Given the description of an element on the screen output the (x, y) to click on. 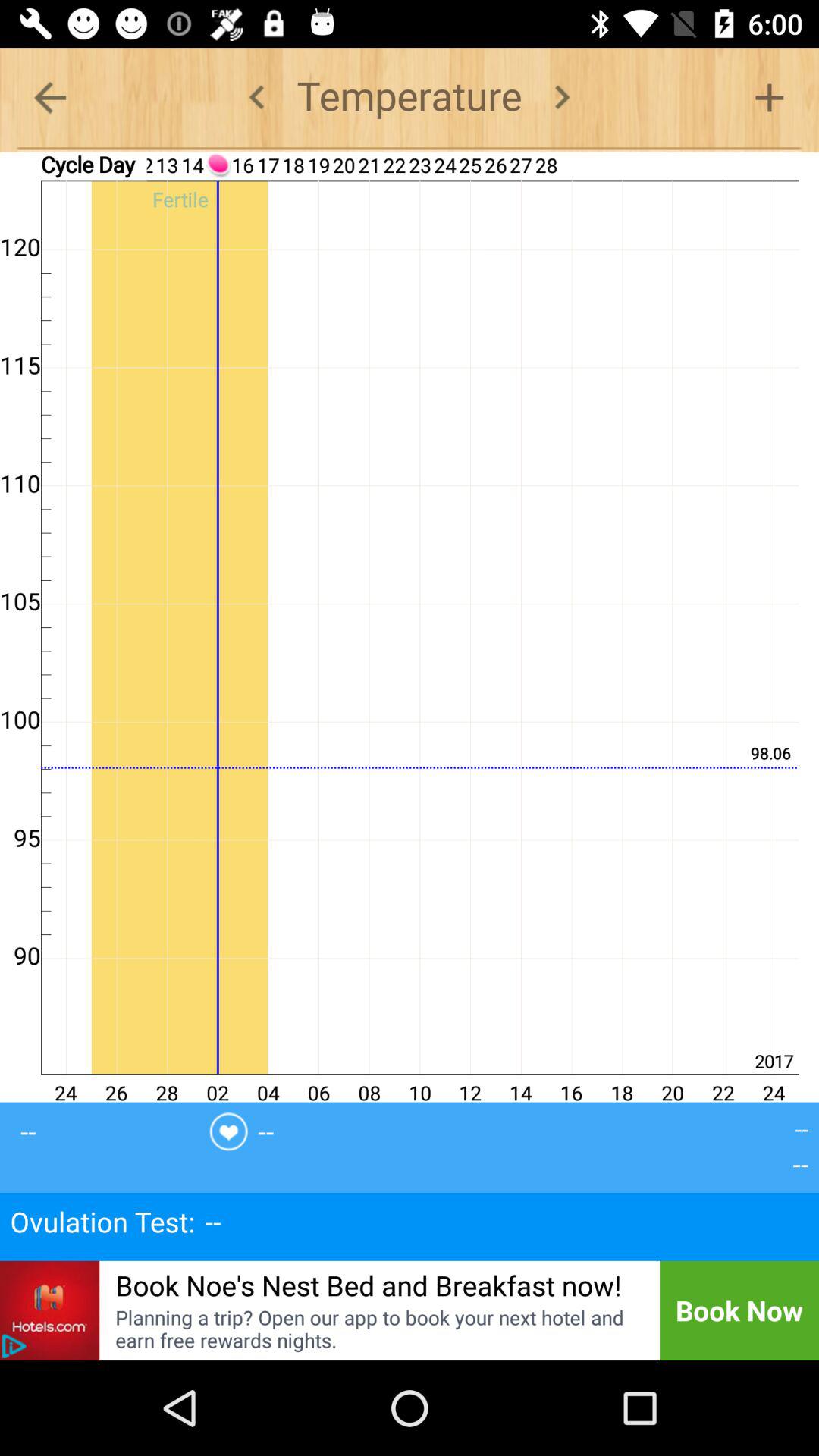
click the book noe s (368, 1285)
